Given the description of an element on the screen output the (x, y) to click on. 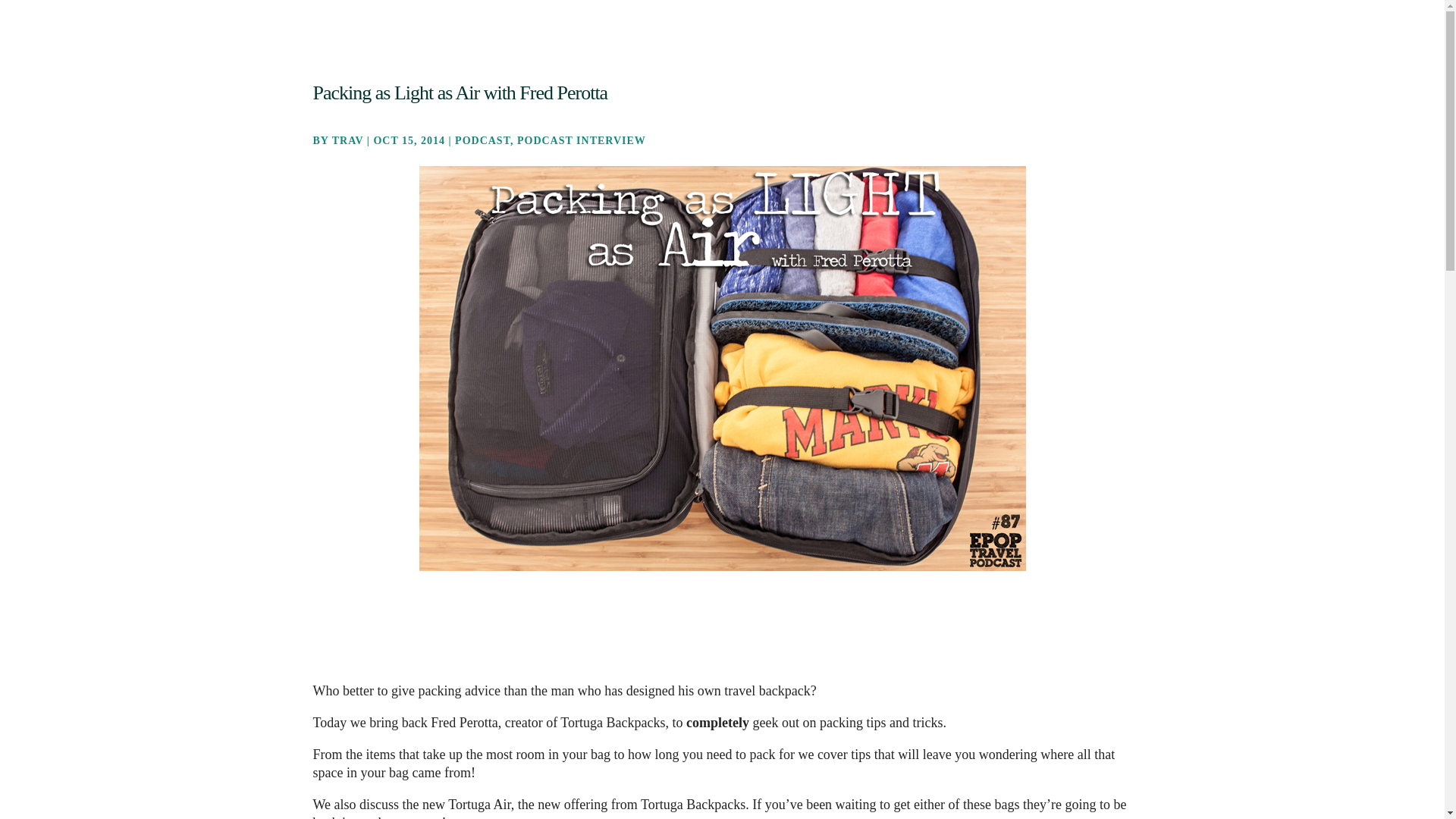
Packing as Light as Air with Fred Perotta (460, 92)
Best Travel Cards (991, 43)
Posts by Trav (347, 140)
PODCAST (482, 140)
Resources (1077, 43)
Fred Perotta on Packing Light (722, 630)
PODCAST INTERVIEW (581, 140)
Podcast (873, 43)
TRAV (347, 140)
